Given the description of an element on the screen output the (x, y) to click on. 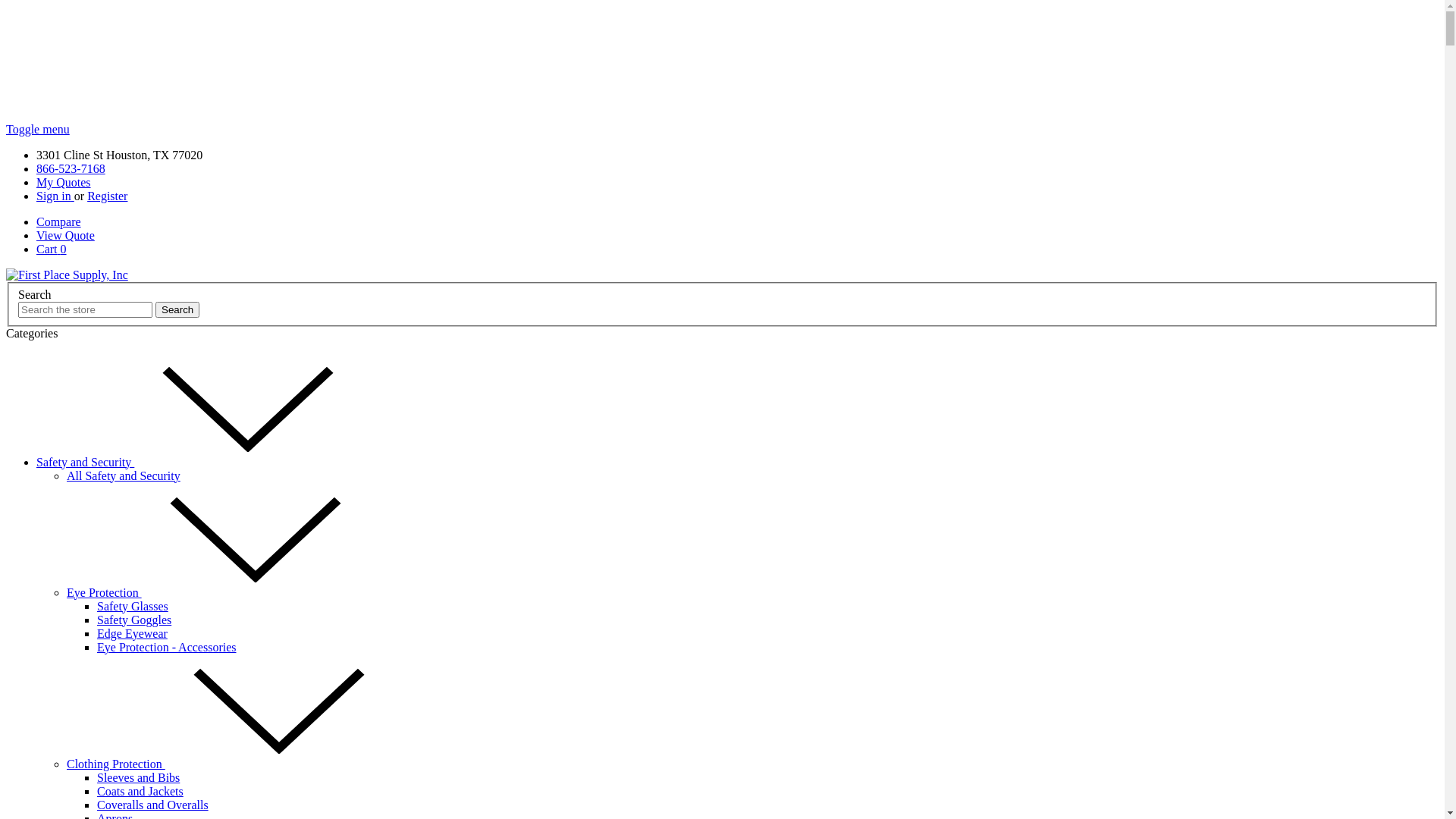
Eye Protection - Accessories Element type: text (166, 646)
Cart 0 Element type: text (51, 248)
Eye Protection Element type: text (217, 592)
Search Element type: text (177, 309)
Edge Eyewear Element type: text (132, 633)
Coats and Jackets Element type: text (140, 790)
All Safety and Security Element type: text (123, 475)
Register Element type: text (107, 195)
View Quote Element type: text (65, 235)
Compare Element type: text (58, 221)
Coveralls and Overalls Element type: text (152, 804)
866-523-7168 Element type: text (70, 168)
Safety and Security Element type: text (198, 461)
Sign in Element type: text (55, 195)
Categories Element type: text (31, 332)
First Place Supply, Inc Element type: hover (67, 275)
Safety Glasses Element type: text (132, 605)
Clothing Protection Element type: text (229, 763)
Sleeves and Bibs Element type: text (138, 777)
Safety Goggles Element type: text (134, 619)
My Quotes Element type: text (63, 181)
Toggle menu Element type: text (37, 128)
